Given the description of an element on the screen output the (x, y) to click on. 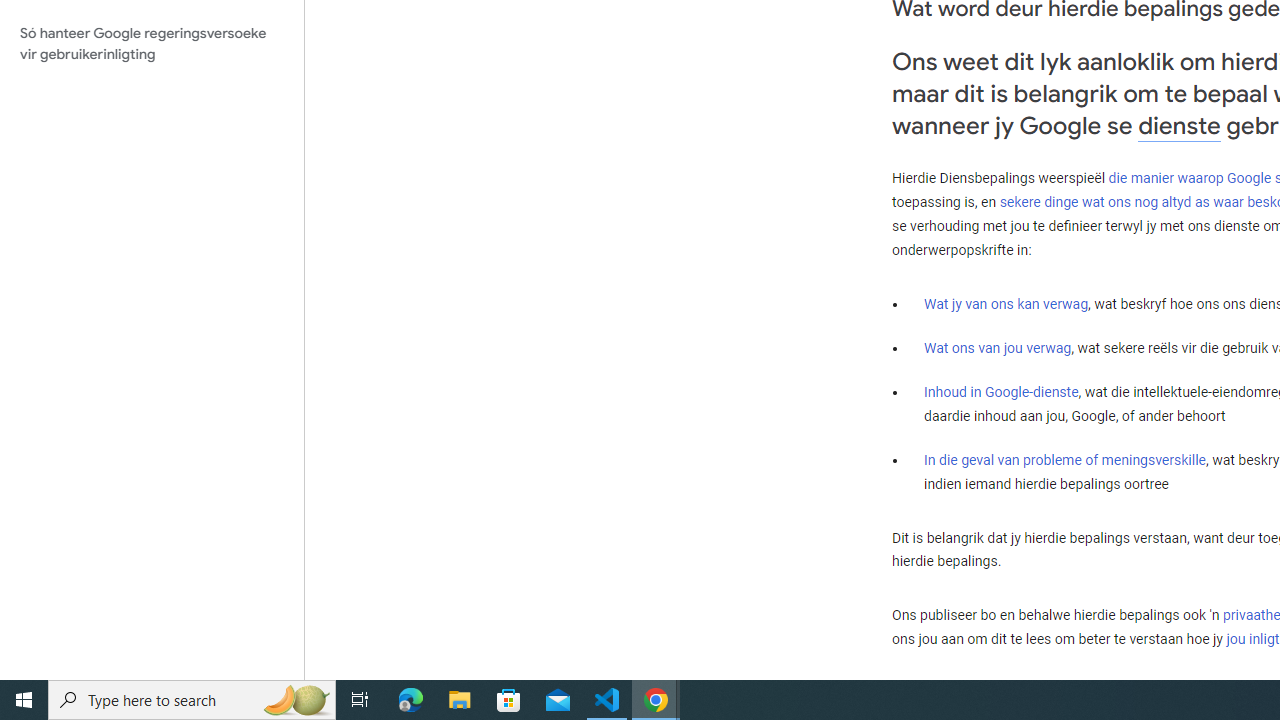
Wat ons van jou verwag (998, 348)
Inhoud in Google-dienste (1001, 392)
dienste (1179, 125)
In die geval van probleme of meningsverskille (1064, 459)
Wat jy van ons kan verwag (1006, 304)
